Given the description of an element on the screen output the (x, y) to click on. 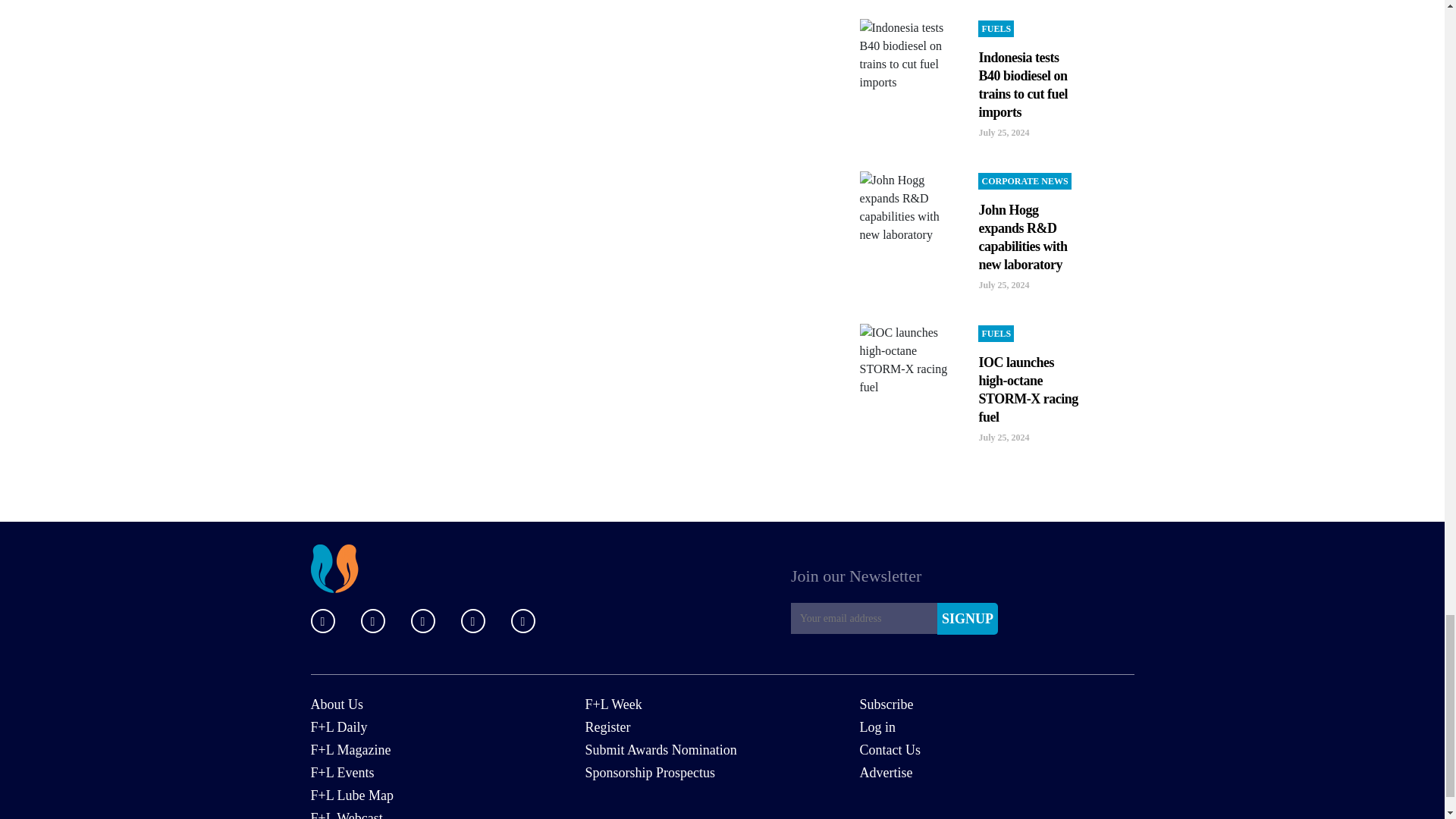
SIGNUP (967, 618)
